Given the description of an element on the screen output the (x, y) to click on. 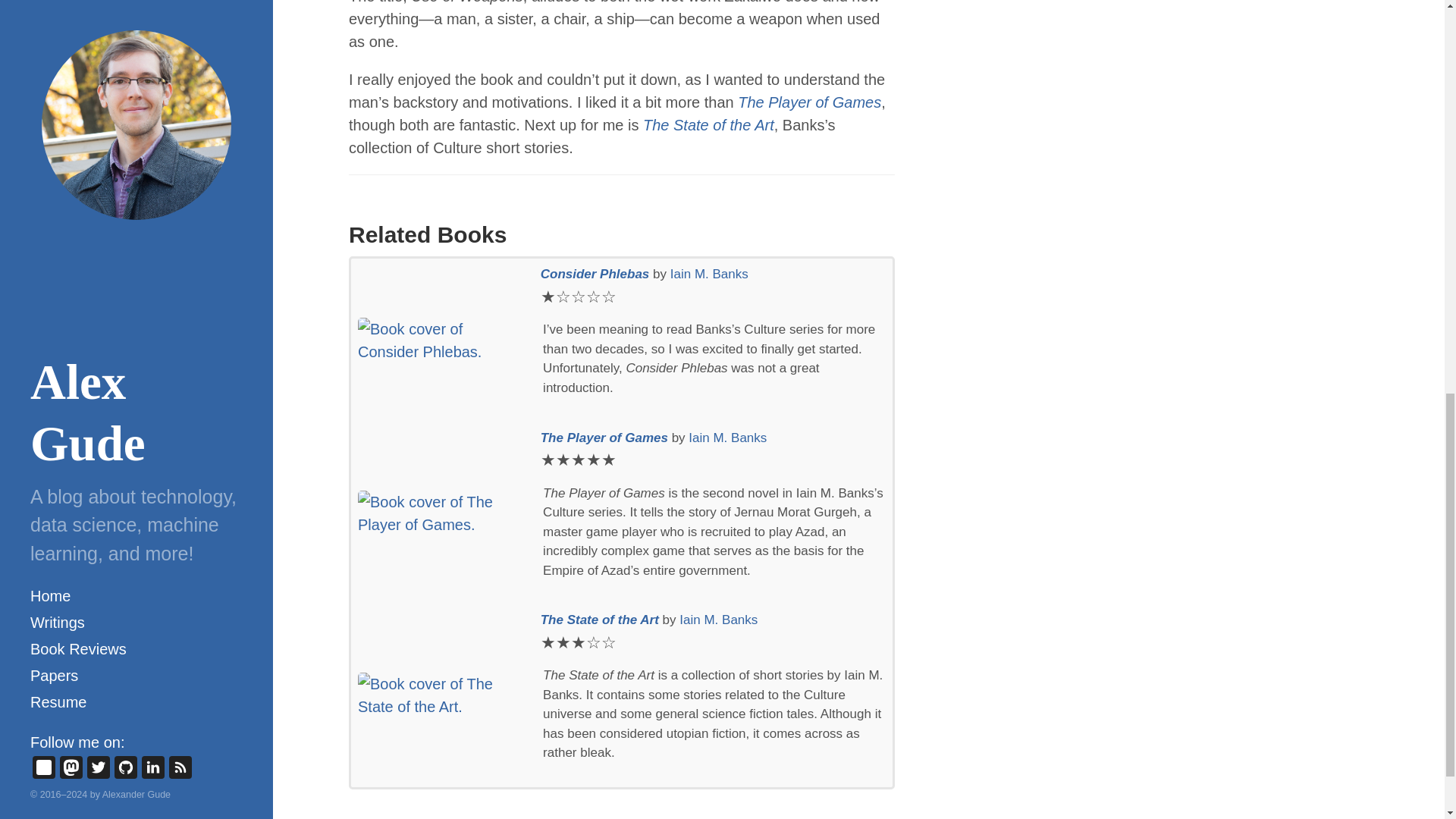
Iain M. Banks (727, 437)
The Player of Games (809, 102)
The State of the Art (601, 619)
Iain M. Banks (708, 273)
Iain M. Banks (718, 619)
The State of the Art (708, 125)
Consider Phlebas (596, 273)
The Player of Games (605, 437)
